Given the description of an element on the screen output the (x, y) to click on. 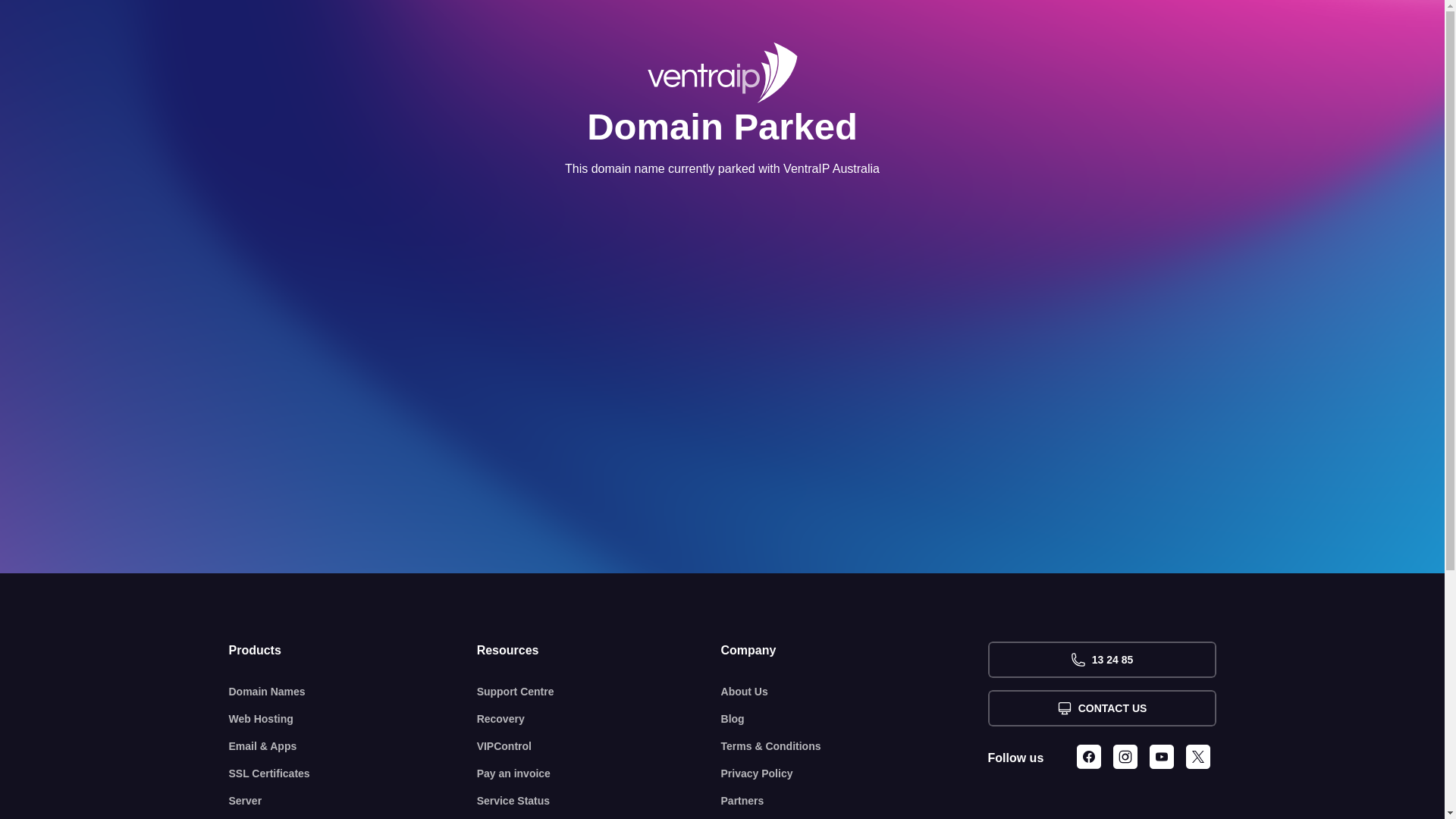
Recovery Element type: text (598, 718)
Partners Element type: text (854, 800)
About Us Element type: text (854, 691)
Email & Apps Element type: text (352, 745)
Service Status Element type: text (598, 800)
Domain Names Element type: text (352, 691)
Pay an invoice Element type: text (598, 773)
13 24 85 Element type: text (1101, 659)
Blog Element type: text (854, 718)
Terms & Conditions Element type: text (854, 745)
CONTACT US Element type: text (1101, 708)
Privacy Policy Element type: text (854, 773)
Support Centre Element type: text (598, 691)
Server Element type: text (352, 800)
VIPControl Element type: text (598, 745)
Web Hosting Element type: text (352, 718)
SSL Certificates Element type: text (352, 773)
